Given the description of an element on the screen output the (x, y) to click on. 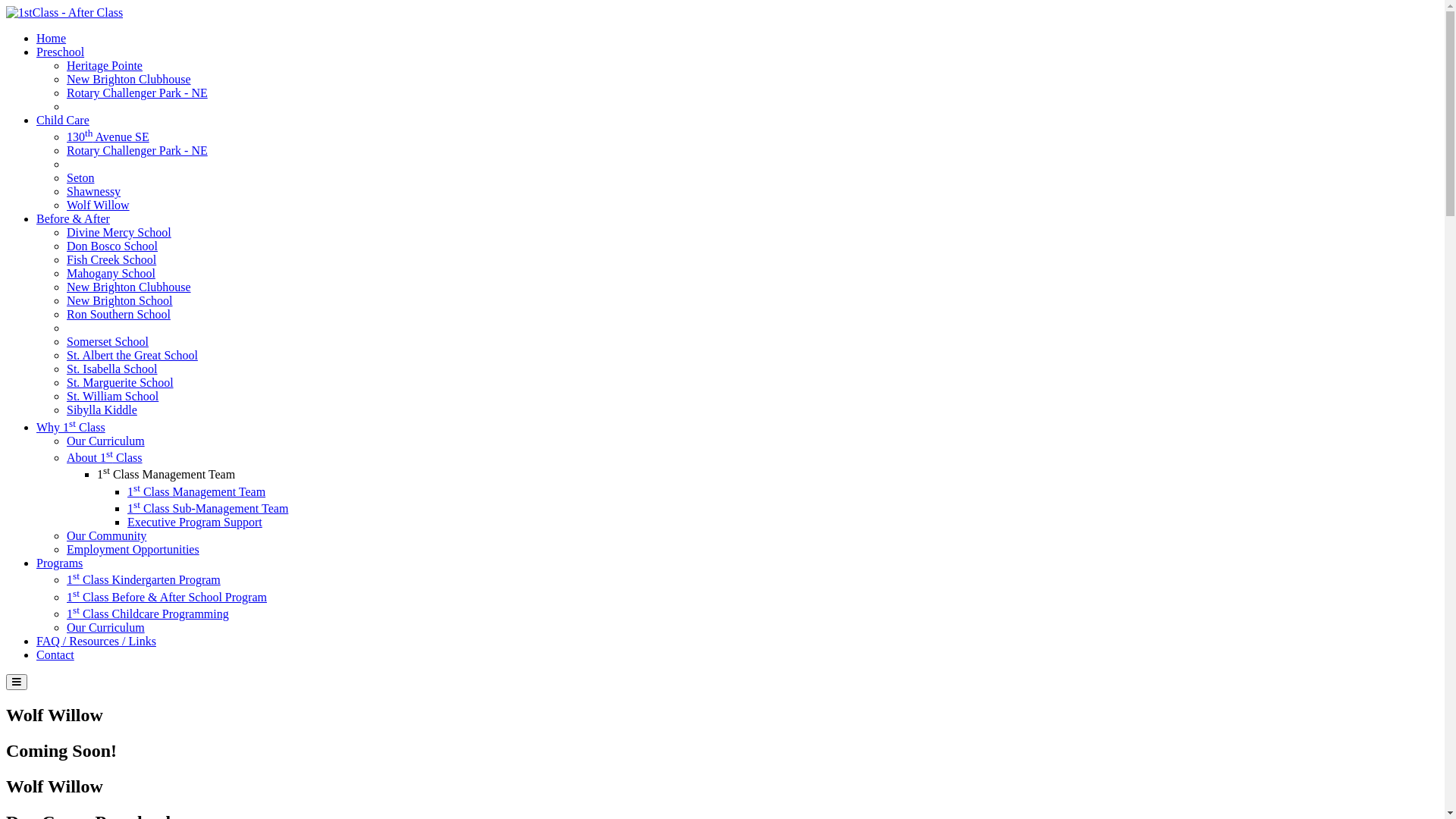
Wolf Willow Element type: text (97, 204)
Before & After Element type: text (72, 218)
FAQ / Resources / Links Element type: text (96, 640)
New Brighton Clubhouse Element type: text (128, 286)
Divine Mercy School Element type: text (118, 231)
Programs Element type: text (59, 562)
1st Class Management Team Element type: text (166, 473)
Somerset School Element type: text (107, 341)
Child Care Element type: text (62, 119)
Executive Program Support Element type: text (194, 521)
1st Class Sub-Management Team Element type: text (207, 508)
Contact Element type: text (55, 654)
St. Marguerite School Element type: text (119, 382)
130th Avenue SE Element type: text (107, 136)
About 1st Class Element type: text (104, 457)
Our Community Element type: text (106, 535)
Mahogany School Element type: text (110, 272)
Our Curriculum Element type: text (105, 627)
St. Albert the Great School Element type: text (131, 354)
1st Class Childcare Programming Element type: text (147, 613)
Why 1st Class Element type: text (70, 426)
Home Element type: text (50, 37)
Rotary Challenger Park - NE Element type: text (136, 92)
Fish Creek School Element type: text (111, 259)
Sibylla Kiddle Element type: text (101, 409)
St. William School Element type: text (112, 395)
1st Class Before & After School Program Element type: text (166, 596)
New Brighton Clubhouse Element type: text (128, 78)
Shawnessy Element type: text (93, 191)
Preschool Element type: text (60, 51)
Rotary Challenger Park - NE Element type: text (136, 150)
New Brighton School Element type: text (119, 300)
1st Class Management Team Element type: text (196, 491)
1st Class Kindergarten Program Element type: text (143, 579)
Our Curriculum Element type: text (105, 440)
Seton Element type: text (80, 177)
Don Bosco School Element type: text (111, 245)
Heritage Pointe Element type: text (104, 65)
Ron Southern School Element type: text (118, 313)
St. Isabella School Element type: text (111, 368)
Employment Opportunities Element type: text (132, 548)
